Given the description of an element on the screen output the (x, y) to click on. 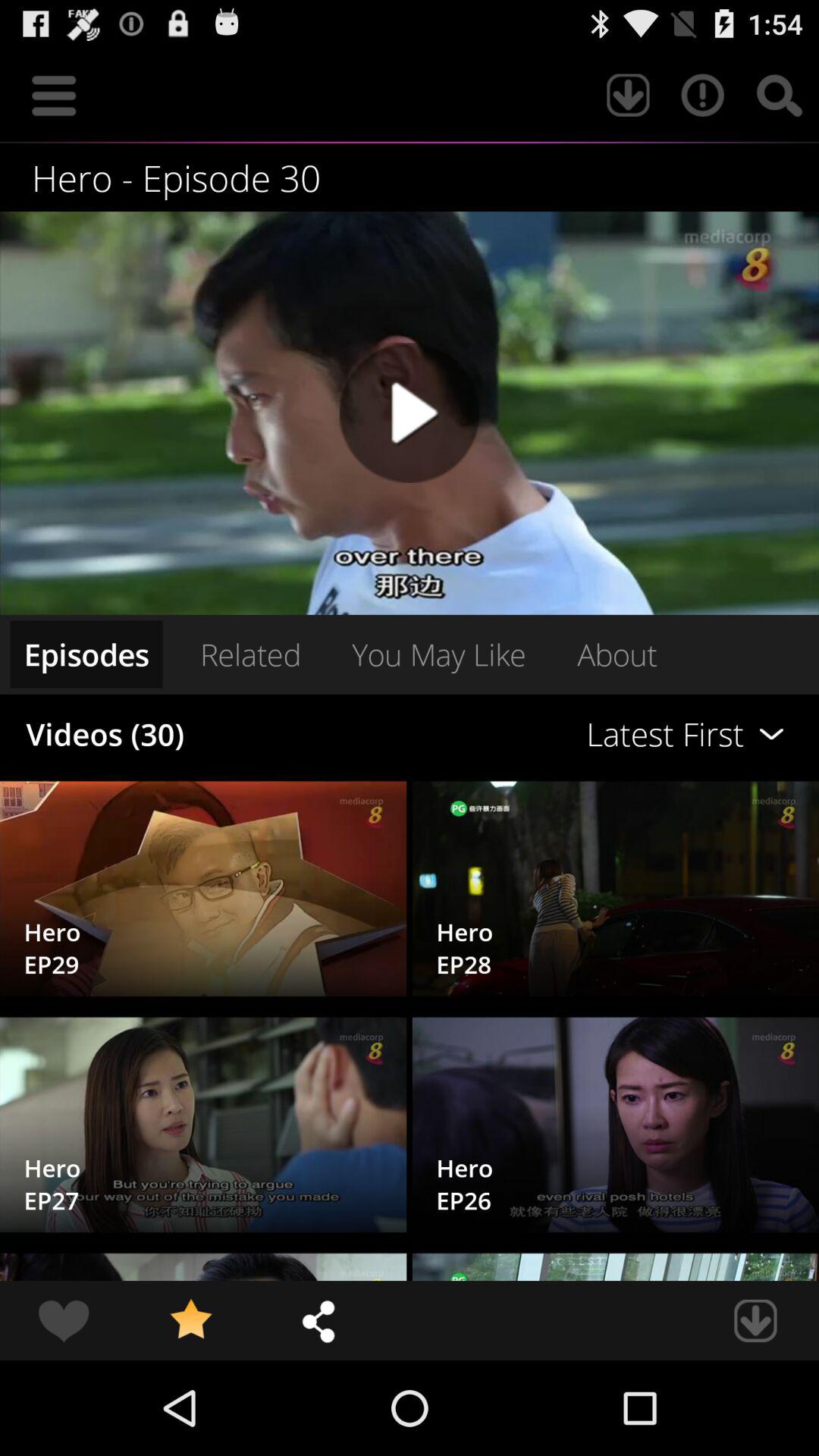
tap the icon above the hero - episode 30 icon (702, 95)
